Given the description of an element on the screen output the (x, y) to click on. 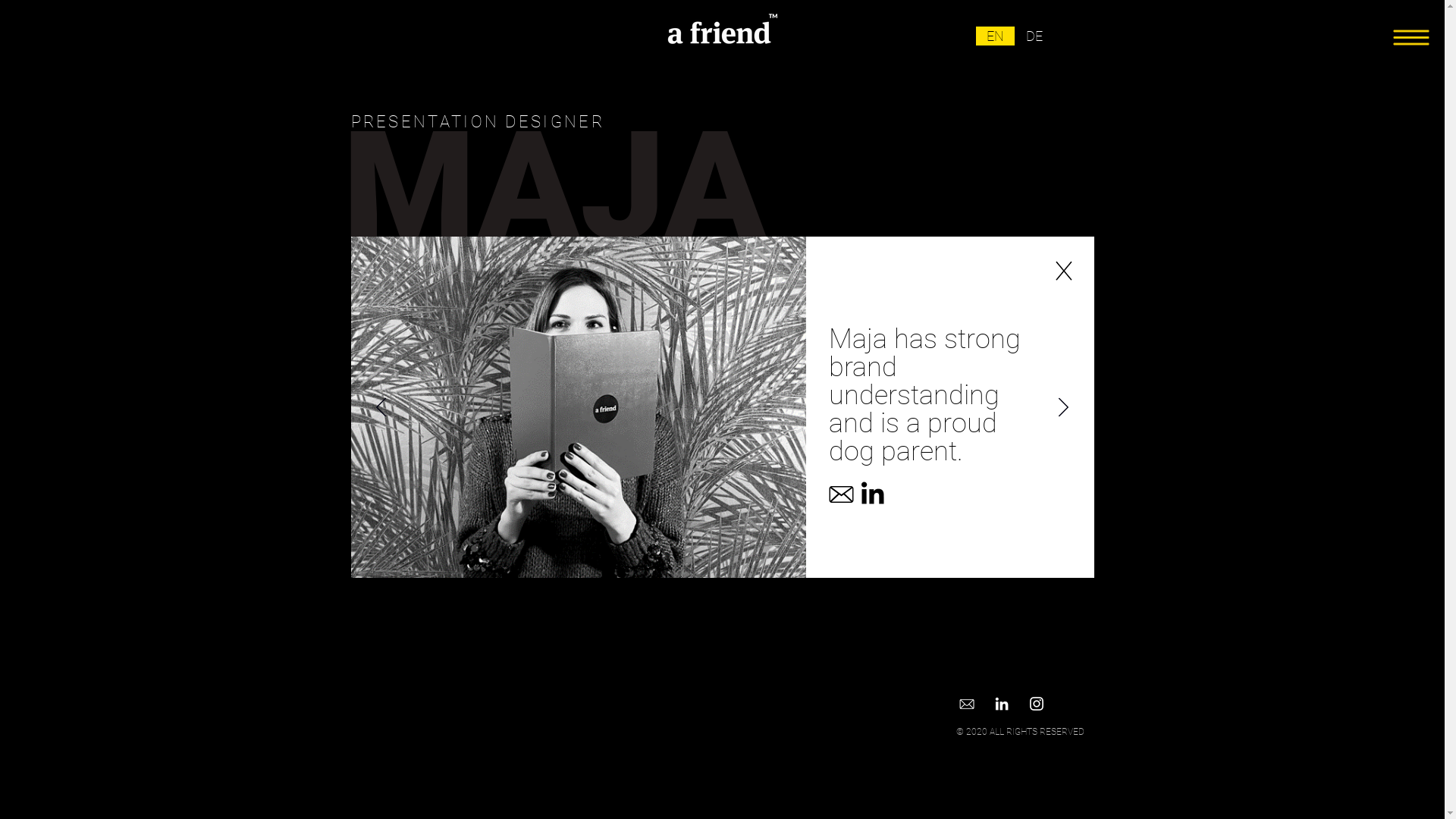
Untitled-2-01.png Element type: hover (871, 492)
a friend_white.png Element type: hover (720, 28)
EN Element type: text (994, 35)
DE Element type: text (1034, 35)
MAJA GIF.gif Element type: hover (577, 406)
cross3-01.png Element type: hover (1063, 268)
